Given the description of an element on the screen output the (x, y) to click on. 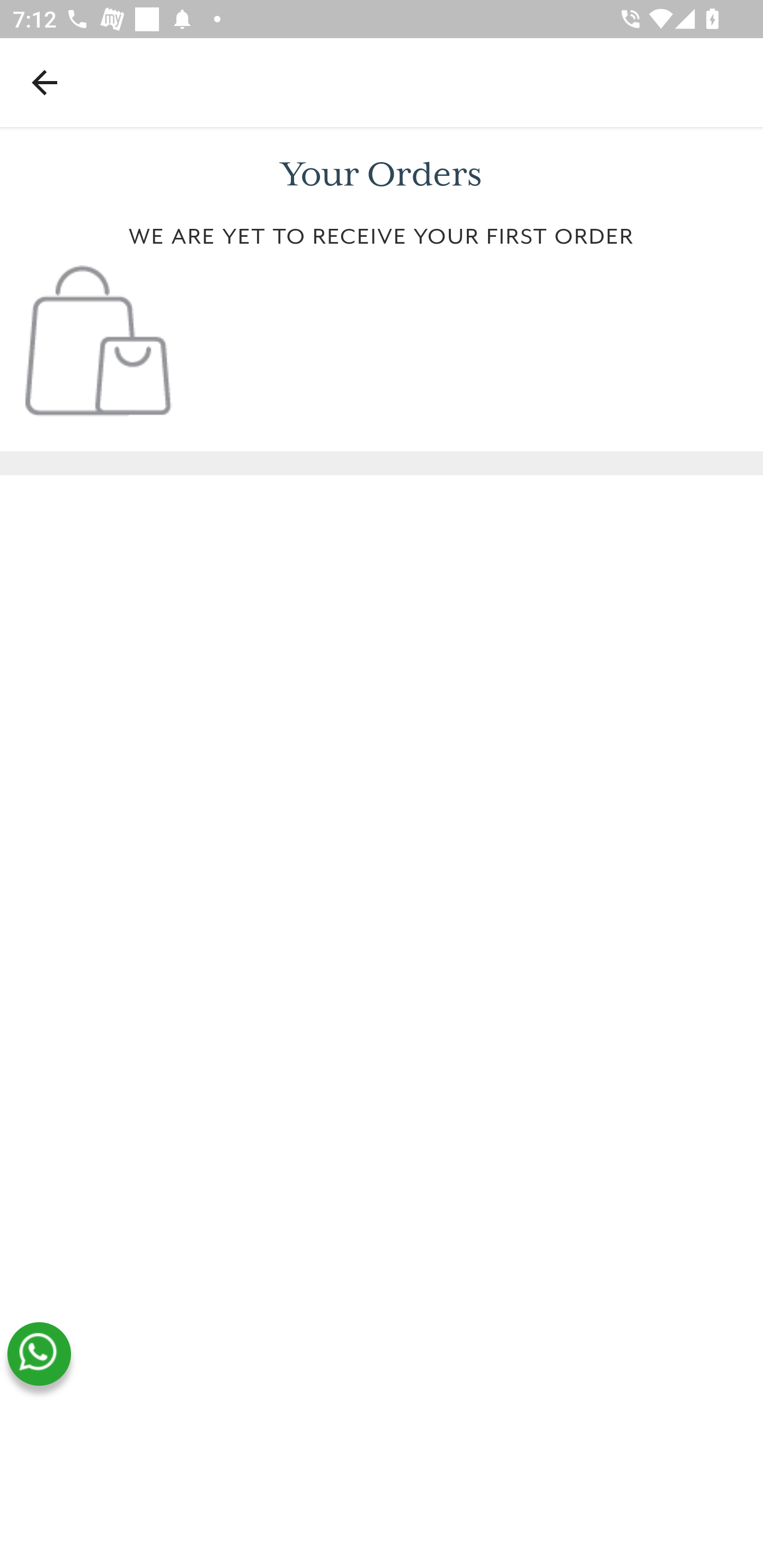
Navigate up (44, 82)
whatsapp (38, 1353)
